Given the description of an element on the screen output the (x, y) to click on. 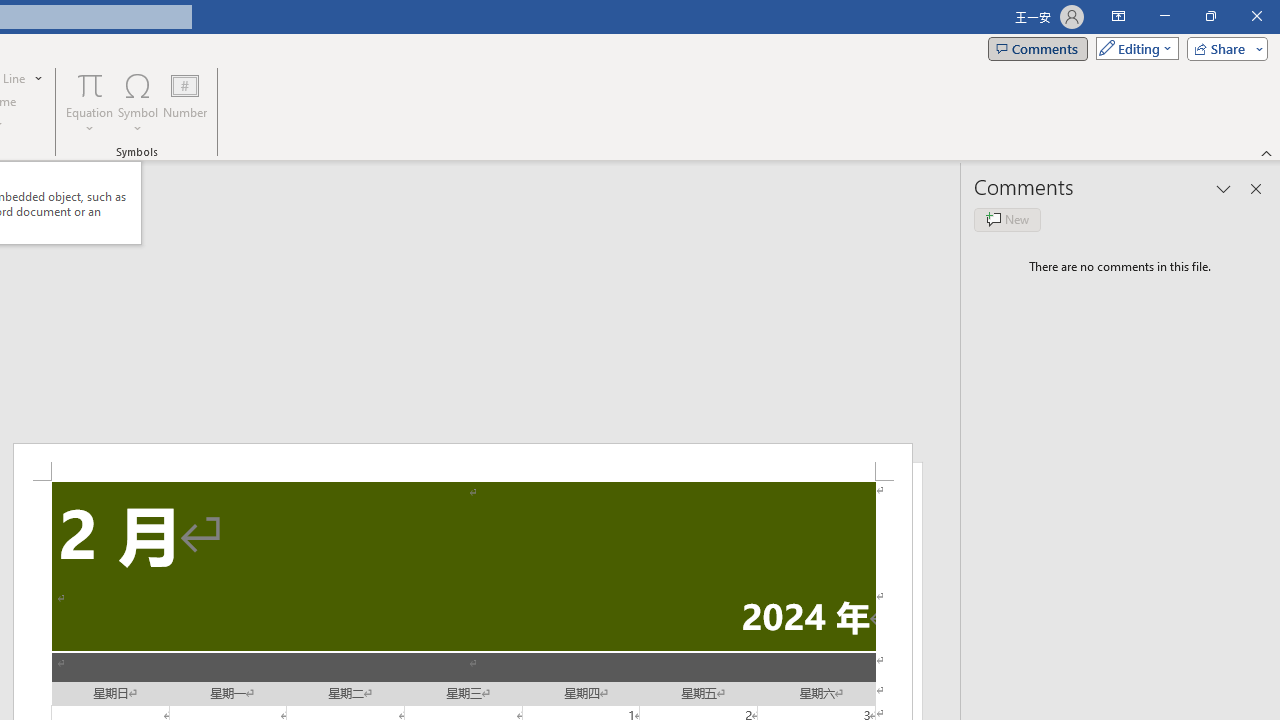
Mode (1133, 47)
